Given the description of an element on the screen output the (x, y) to click on. 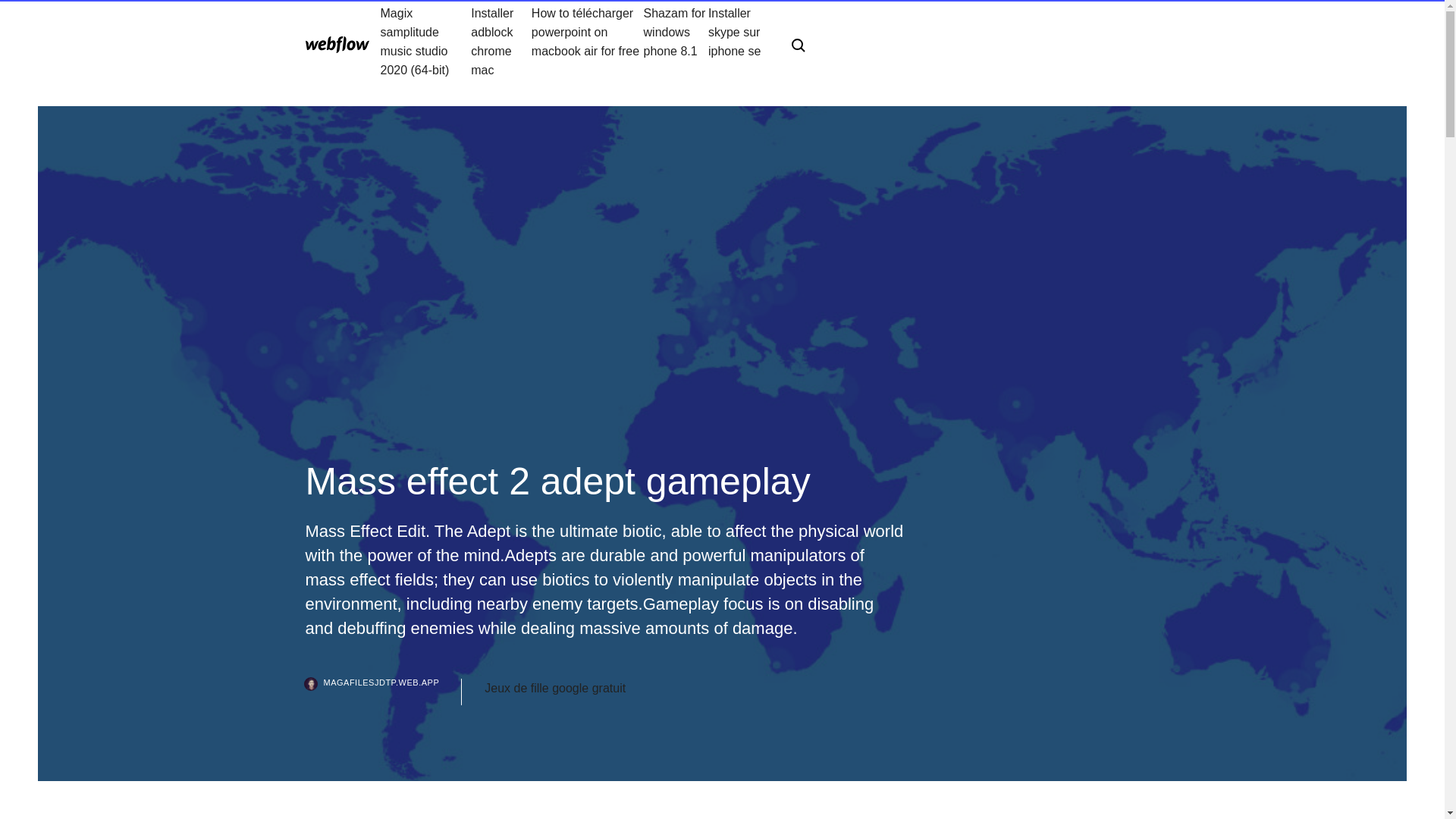
MAGAFILESJDTP.WEB.APP (382, 691)
Jeux de fille google gratuit (555, 687)
